Given the description of an element on the screen output the (x, y) to click on. 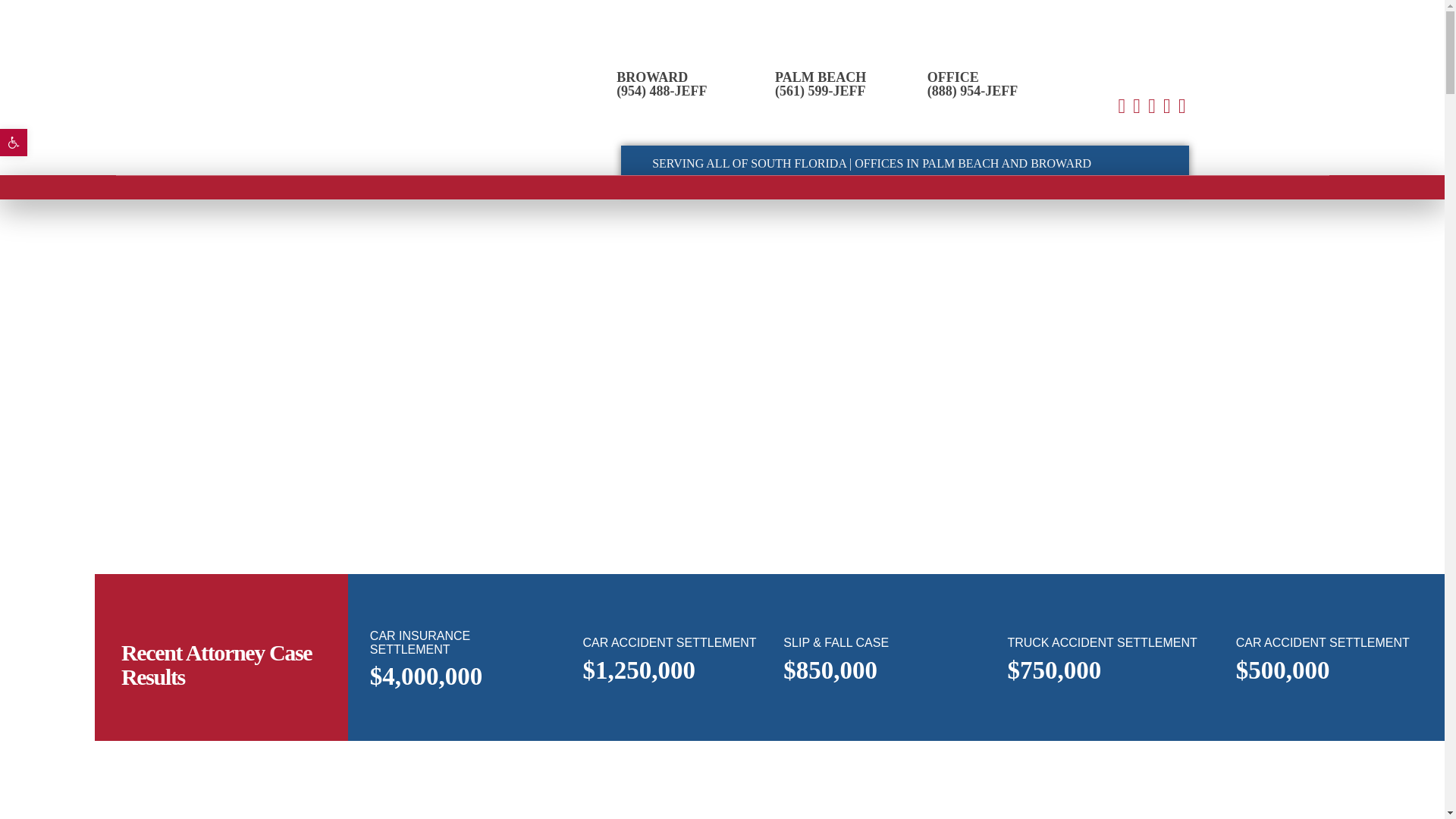
South Florida Injury Law Firm (304, 80)
South Florida Injury Law Firm (267, 128)
The South Florida Injury Law Firm 17 (294, 313)
South Florida Injury Law Firm (267, 128)
Accessibility Tools (13, 142)
